Given the description of an element on the screen output the (x, y) to click on. 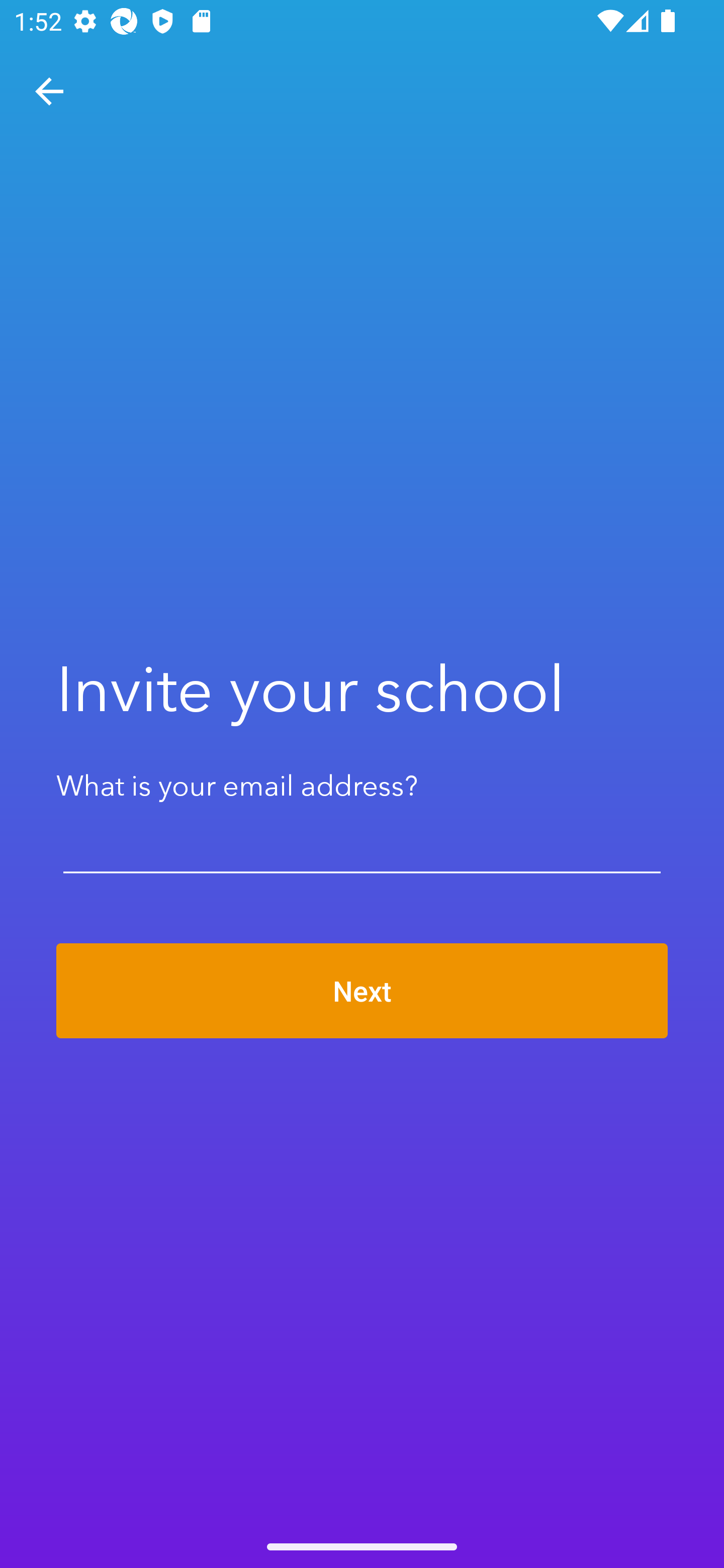
Navigate up (49, 91)
Next (361, 990)
